Given the description of an element on the screen output the (x, y) to click on. 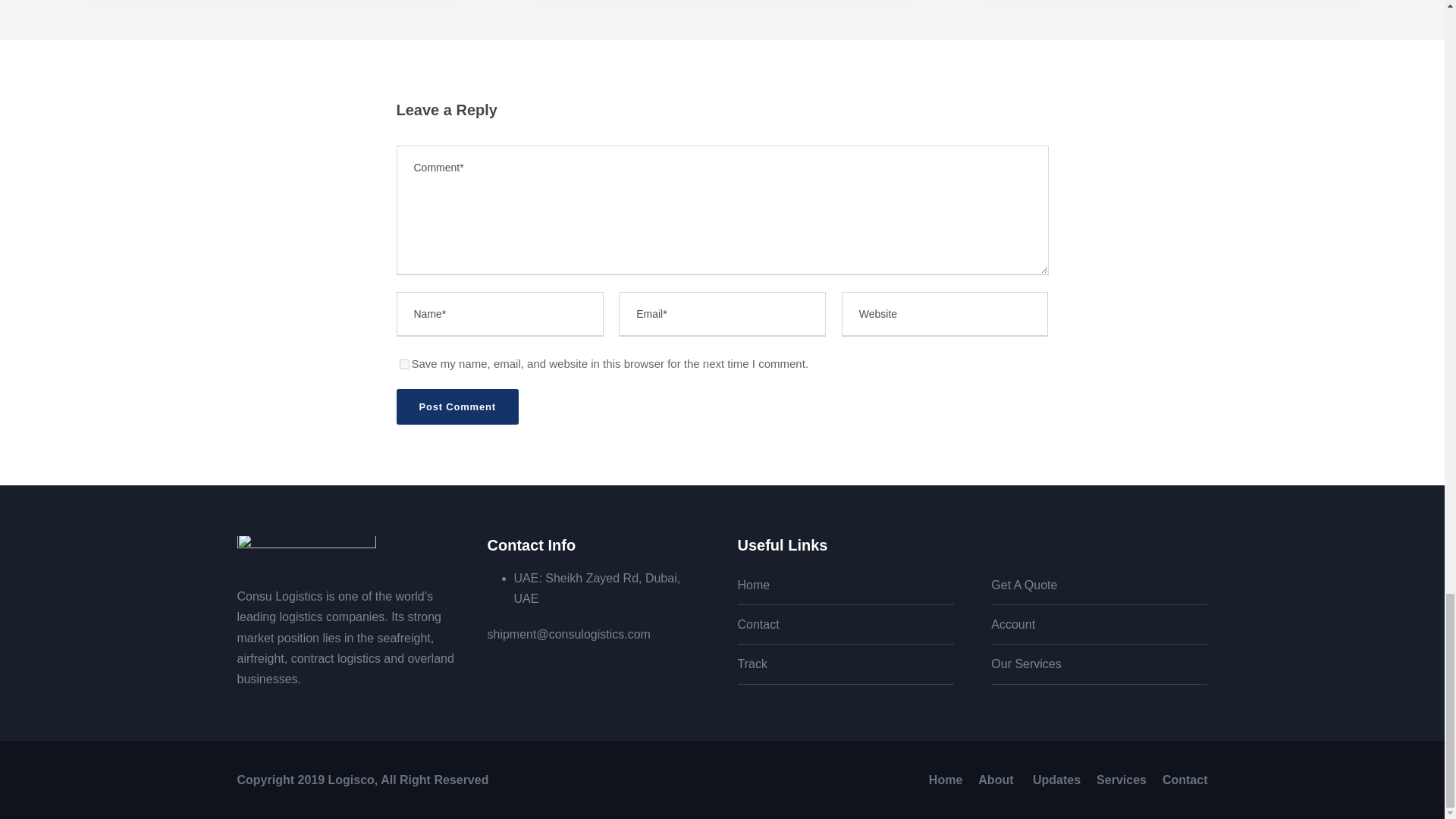
yes (403, 364)
Post Comment (457, 407)
